Given the description of an element on the screen output the (x, y) to click on. 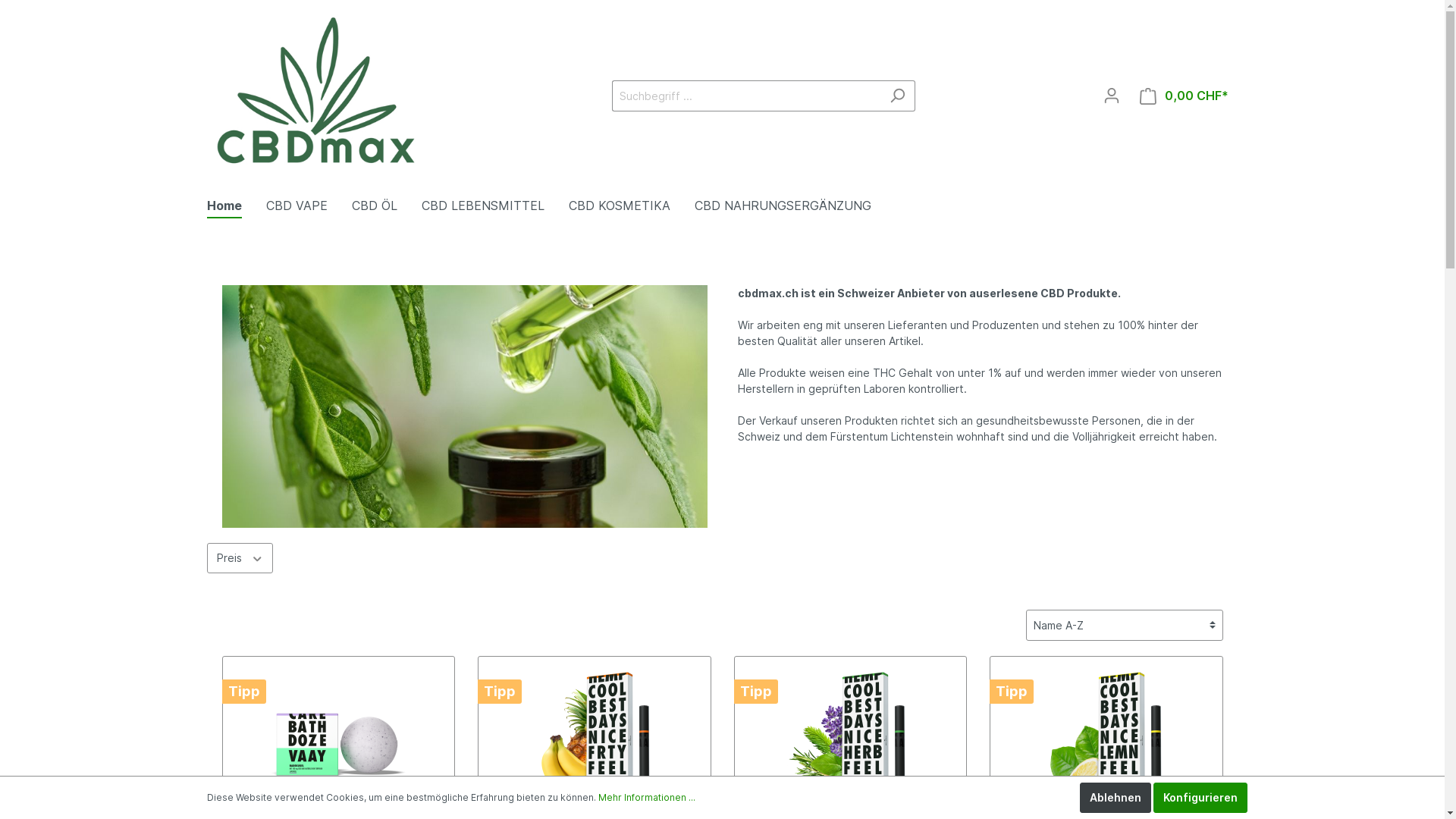
0,00 CHF* Element type: text (1183, 95)
CBD LEBENSMITTEL Element type: text (494, 206)
CBD VAPE Element type: text (308, 206)
Home Element type: text (235, 206)
Preis Element type: text (239, 557)
Ablehnen Element type: text (1115, 797)
Konfigurieren Element type: text (1199, 797)
Mein Konto Element type: hover (1111, 95)
CBD KOSMETIKA Element type: text (631, 206)
Zur Startseite wechseln Element type: hover (319, 92)
Mehr Informationen ... Element type: text (645, 797)
